Given the description of an element on the screen output the (x, y) to click on. 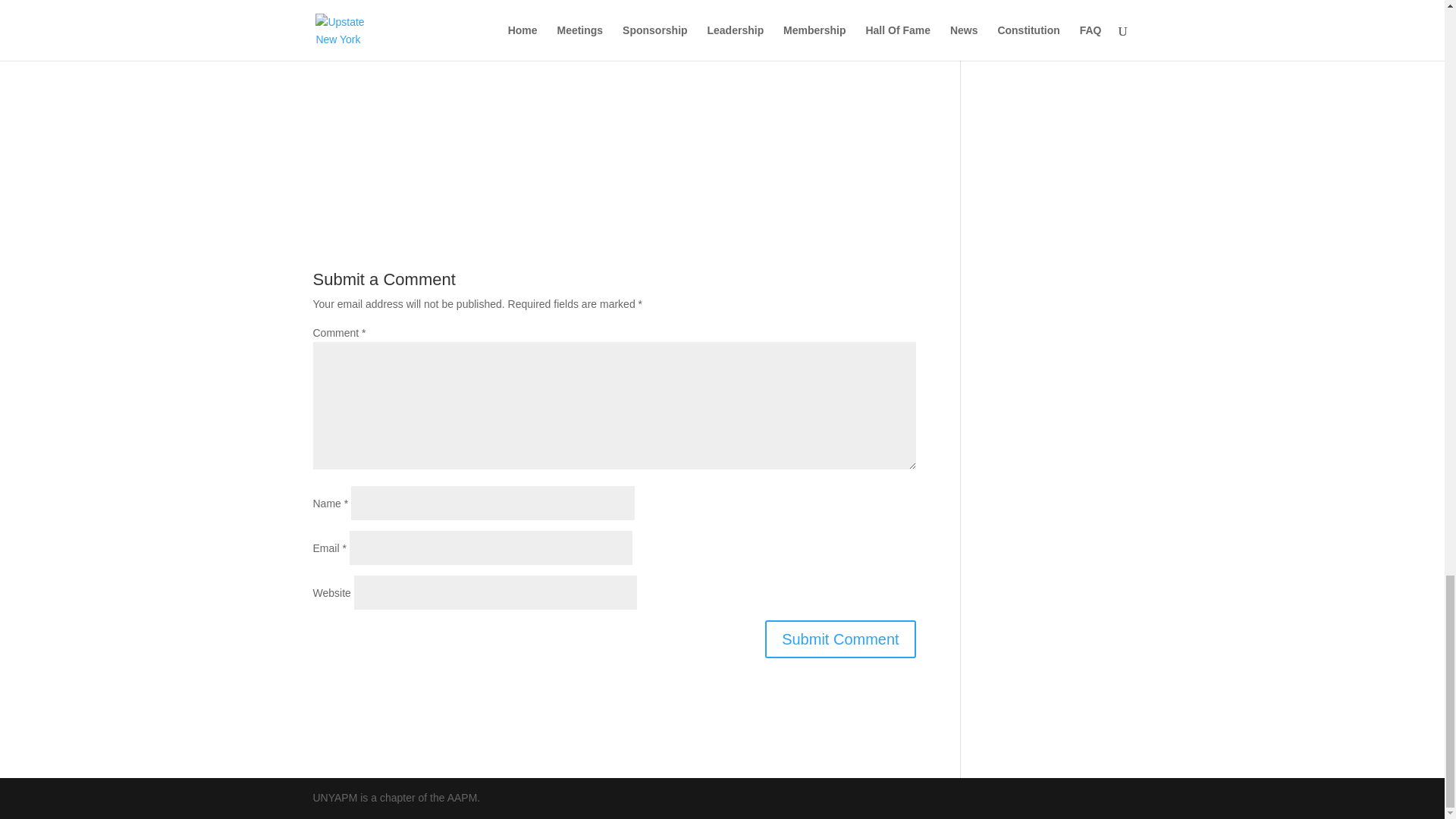
Submit Comment (840, 638)
Submit Comment (840, 638)
